Given the description of an element on the screen output the (x, y) to click on. 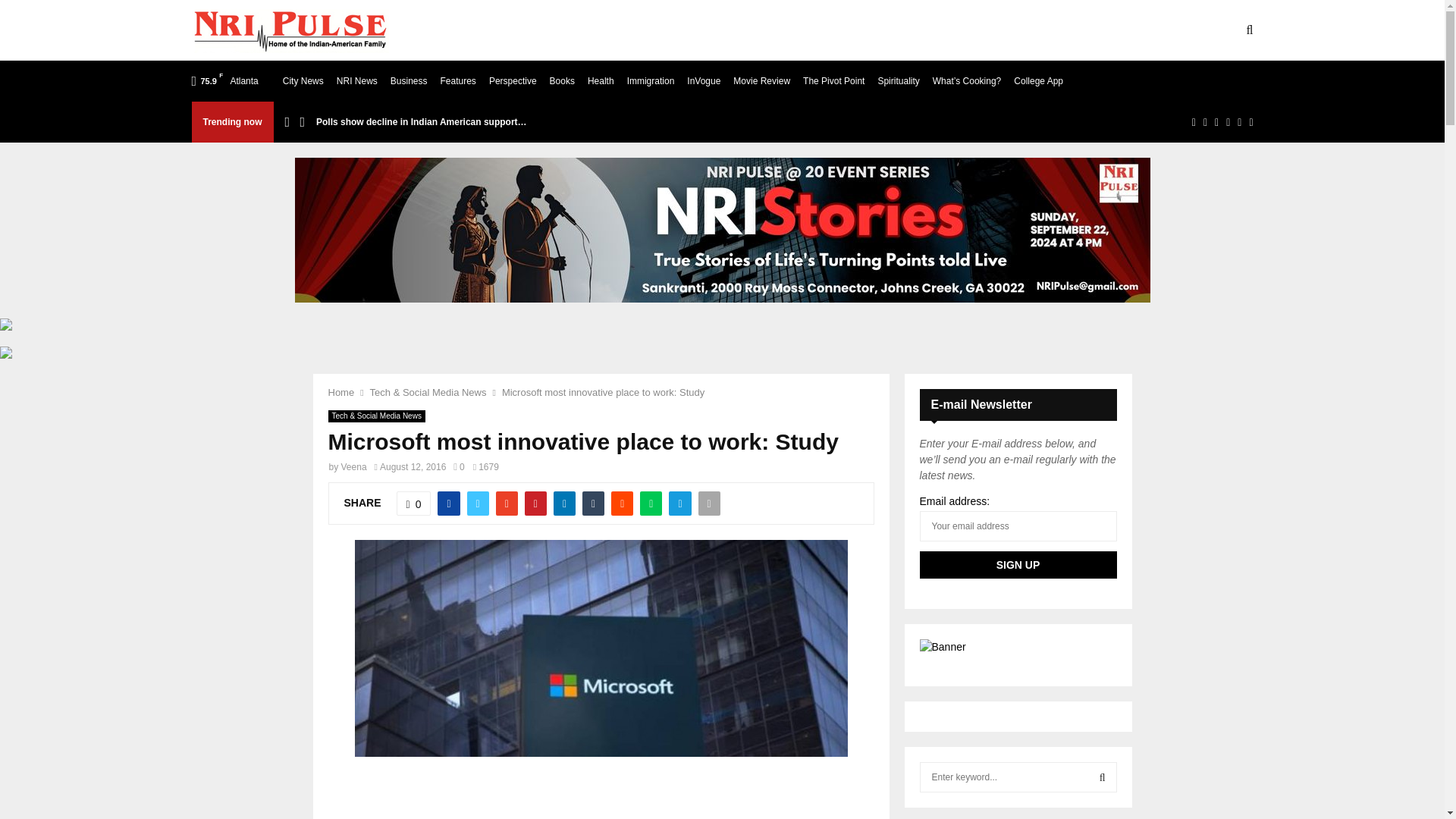
Perspective (513, 80)
TERMS OF USE (591, 30)
Movie Review (761, 80)
Immigration (651, 80)
Books (562, 80)
Health (601, 80)
College App (1037, 80)
ABOUT US (501, 30)
InVogue (703, 80)
Spirituality (897, 80)
